Given the description of an element on the screen output the (x, y) to click on. 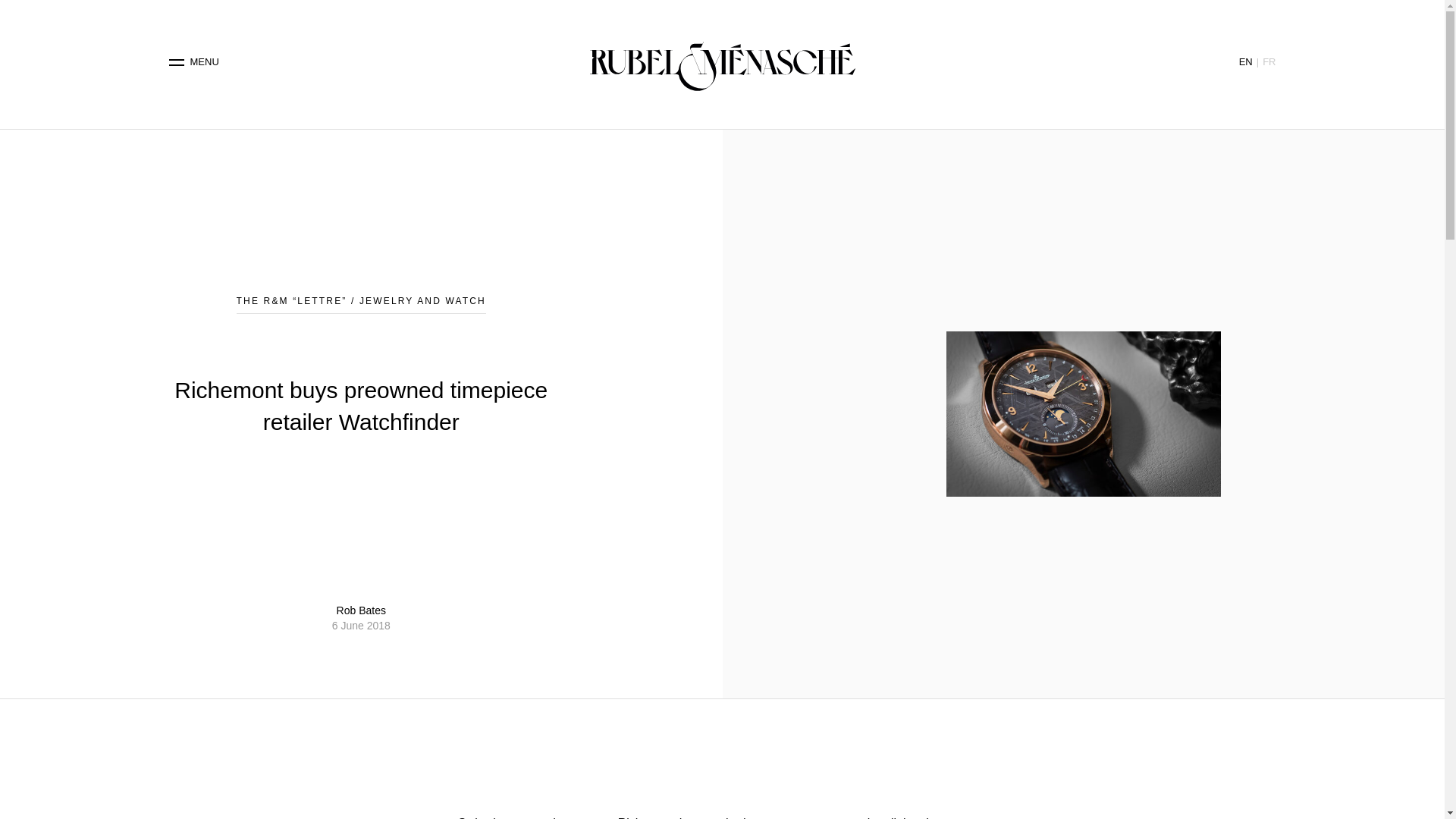
FR (1268, 61)
EN (1245, 61)
MENU (194, 61)
